Given the description of an element on the screen output the (x, y) to click on. 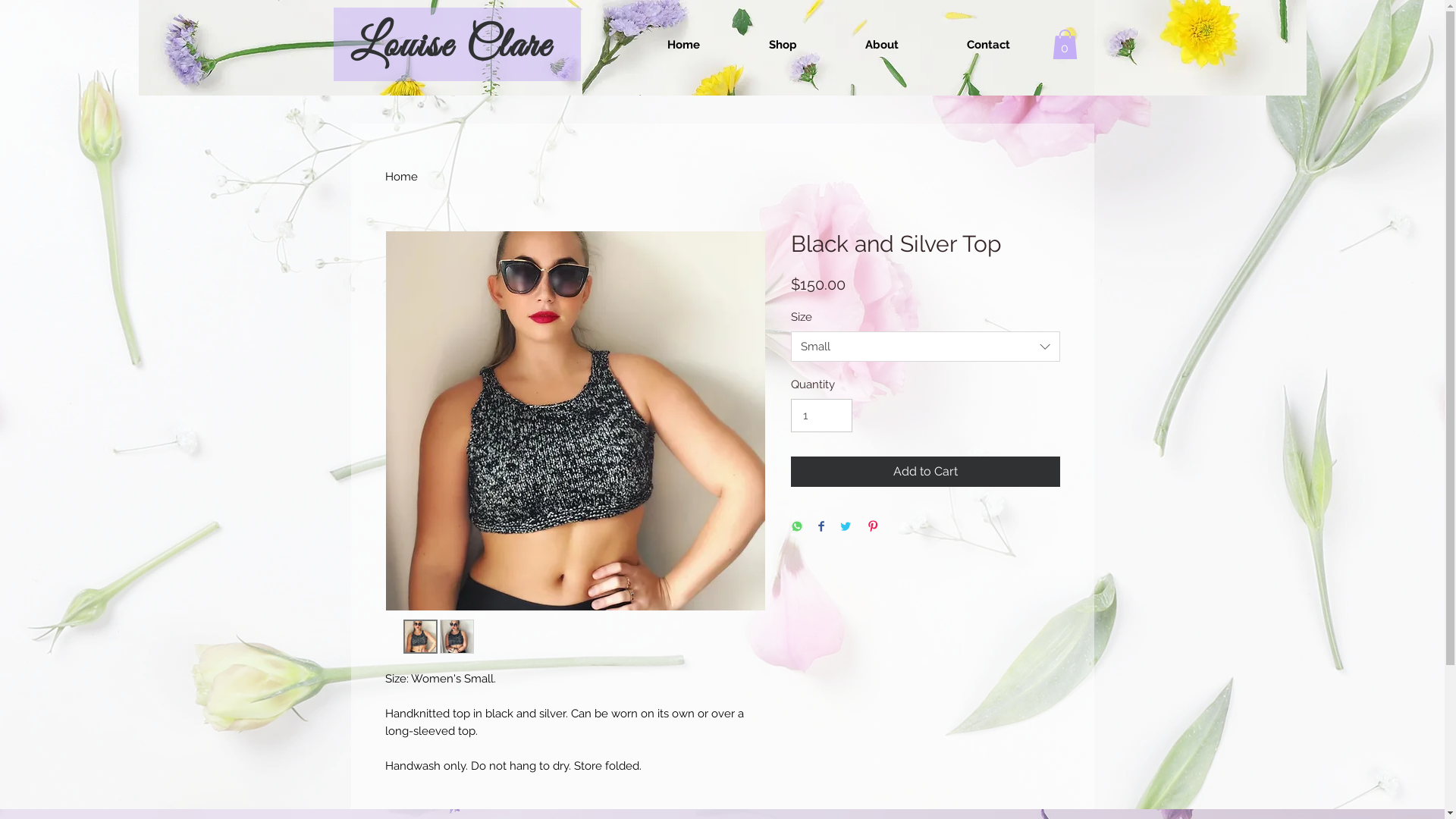
Small Element type: text (924, 346)
Louise Clare Element type: text (450, 45)
Shop Element type: text (782, 44)
0 Element type: text (1064, 44)
Home Element type: text (683, 44)
About Element type: text (881, 44)
Home Element type: text (401, 176)
Add to Cart Element type: text (924, 471)
Contact Element type: text (988, 44)
